Given the description of an element on the screen output the (x, y) to click on. 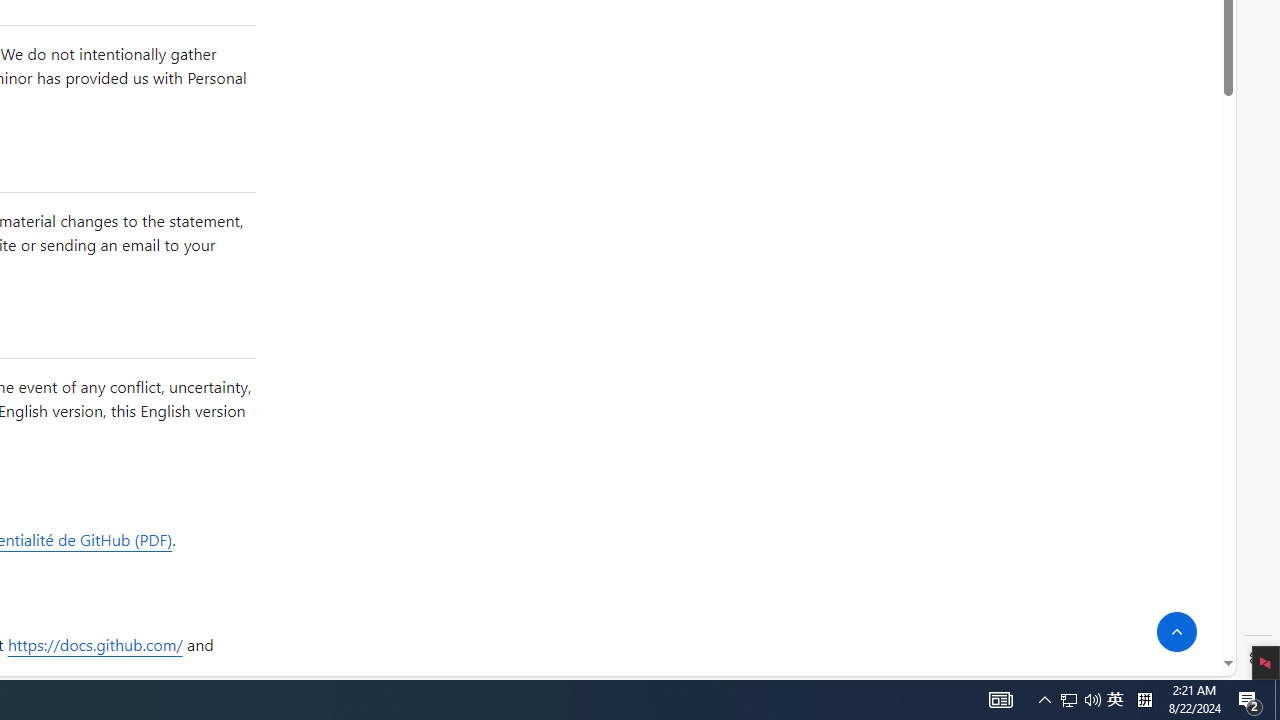
https://docs.github.com/ (94, 643)
